Given the description of an element on the screen output the (x, y) to click on. 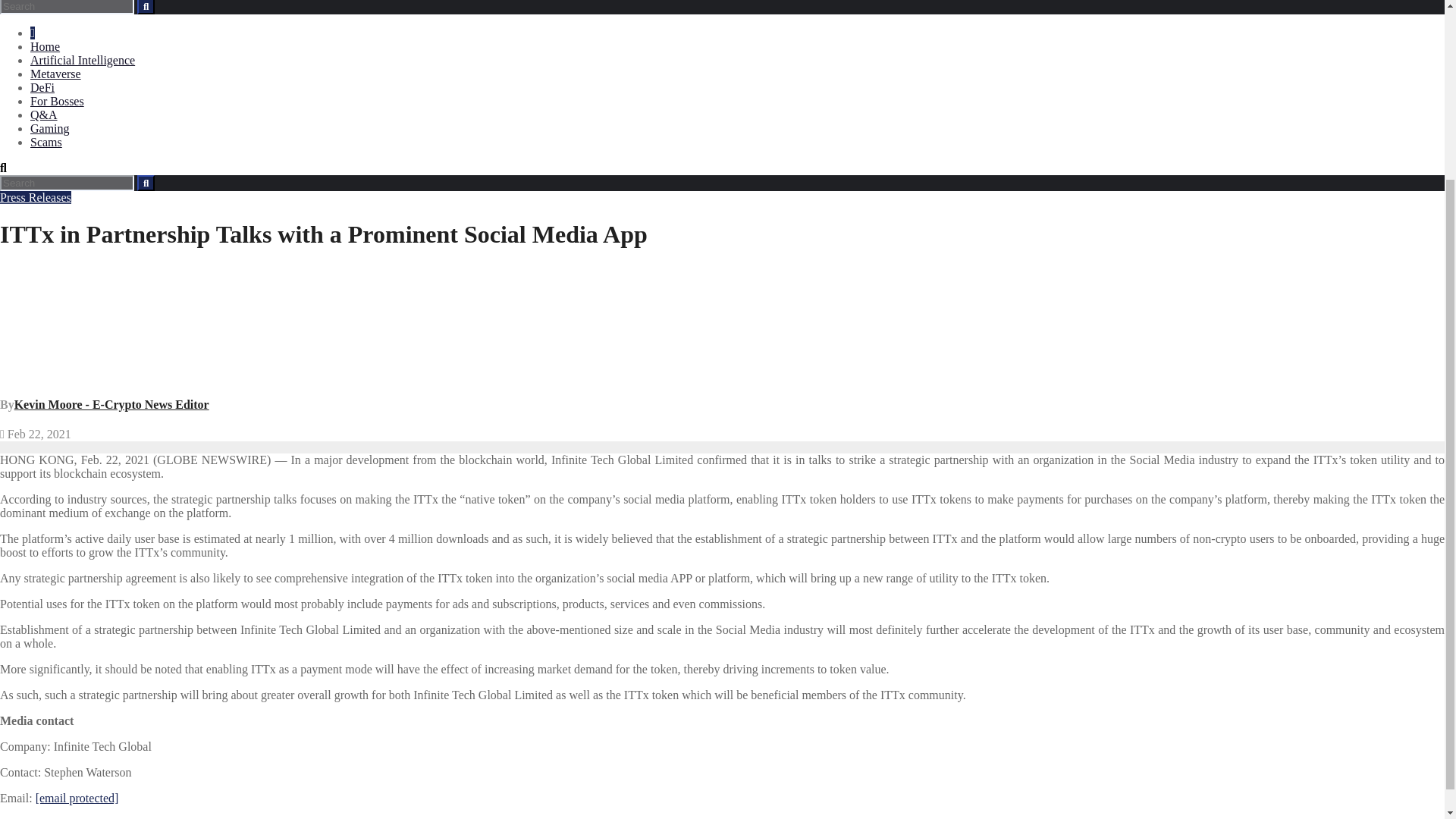
Artificial Intelligence (82, 60)
DeFi (42, 87)
Gaming (49, 128)
DeFi (42, 87)
For Bosses (57, 101)
For Bosses (57, 101)
Home (44, 46)
Metaverse (55, 73)
Press Releases (35, 196)
Gaming (49, 128)
